Given the description of an element on the screen output the (x, y) to click on. 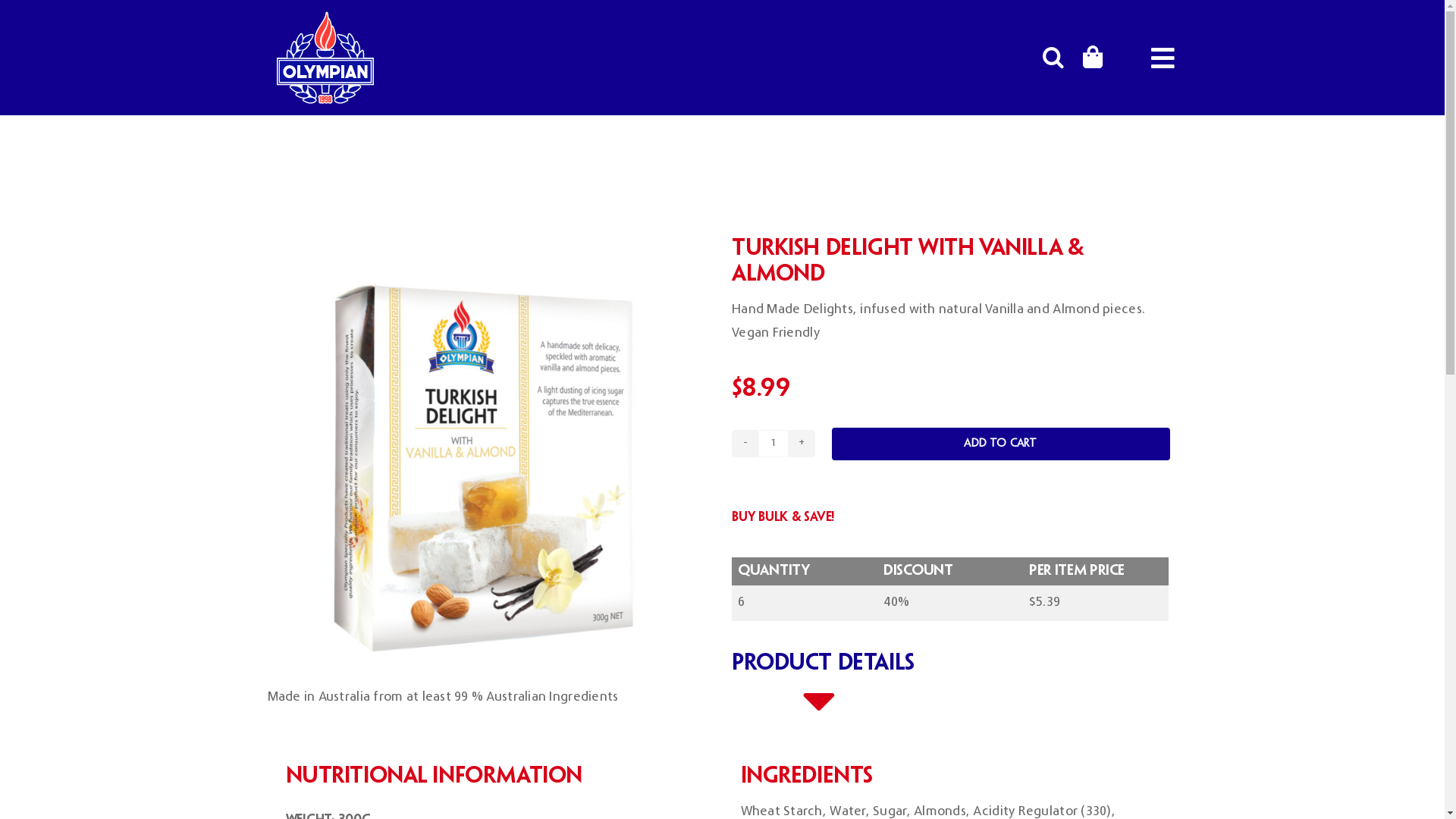
Turkish Delight - Vanilla Almond Element type: hover (489, 451)
Add to cart Element type: text (1000, 443)
Search Element type: hover (1052, 57)
